Given the description of an element on the screen output the (x, y) to click on. 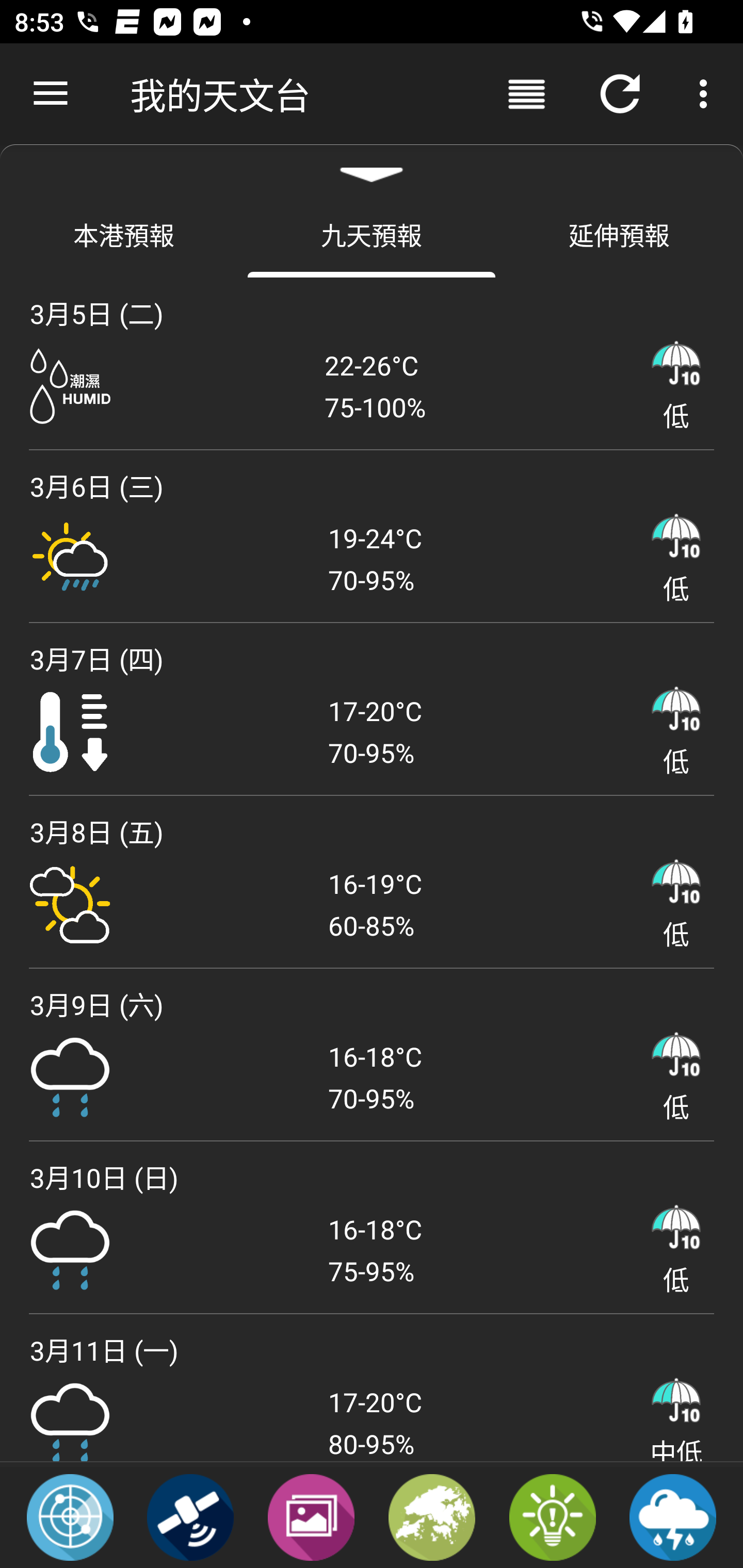
向上瀏覽 (50, 93)
直向佈局 (525, 93)
重新整理 (619, 93)
更多選項 (706, 93)
隱藏 (371, 167)
本港預報 (123, 234)
延伸預報 (619, 234)
雷達圖像 (69, 1516)
衛星圖像 (190, 1516)
天氣照片 (310, 1516)
分區天氣 (431, 1516)
天氣提示 (551, 1516)
定點降雨及閃電預報 (672, 1516)
